Given the description of an element on the screen output the (x, y) to click on. 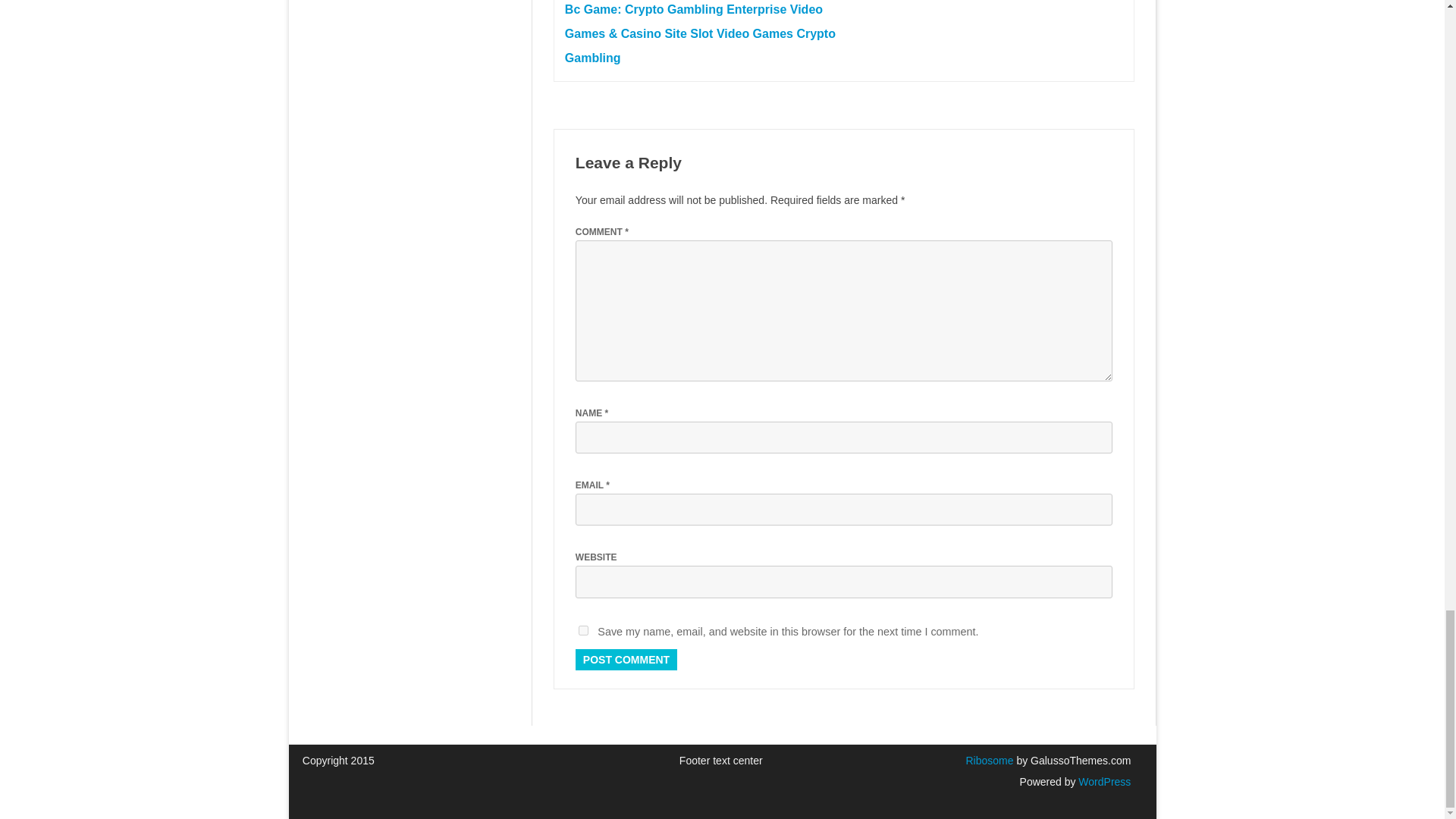
Post Comment (626, 659)
yes (583, 630)
